Given the description of an element on the screen output the (x, y) to click on. 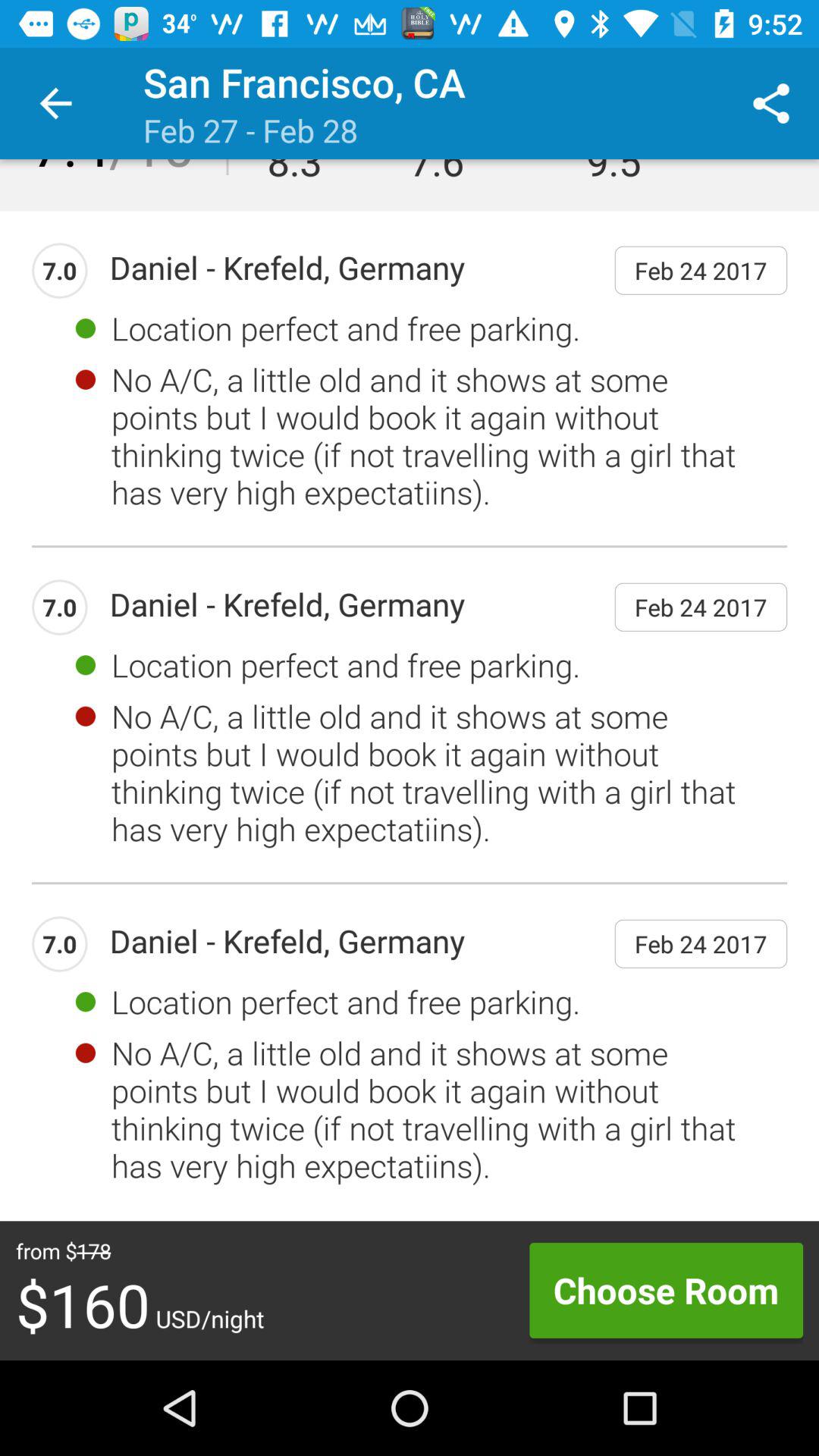
click item above the 7.4/10 item (55, 103)
